Given the description of an element on the screen output the (x, y) to click on. 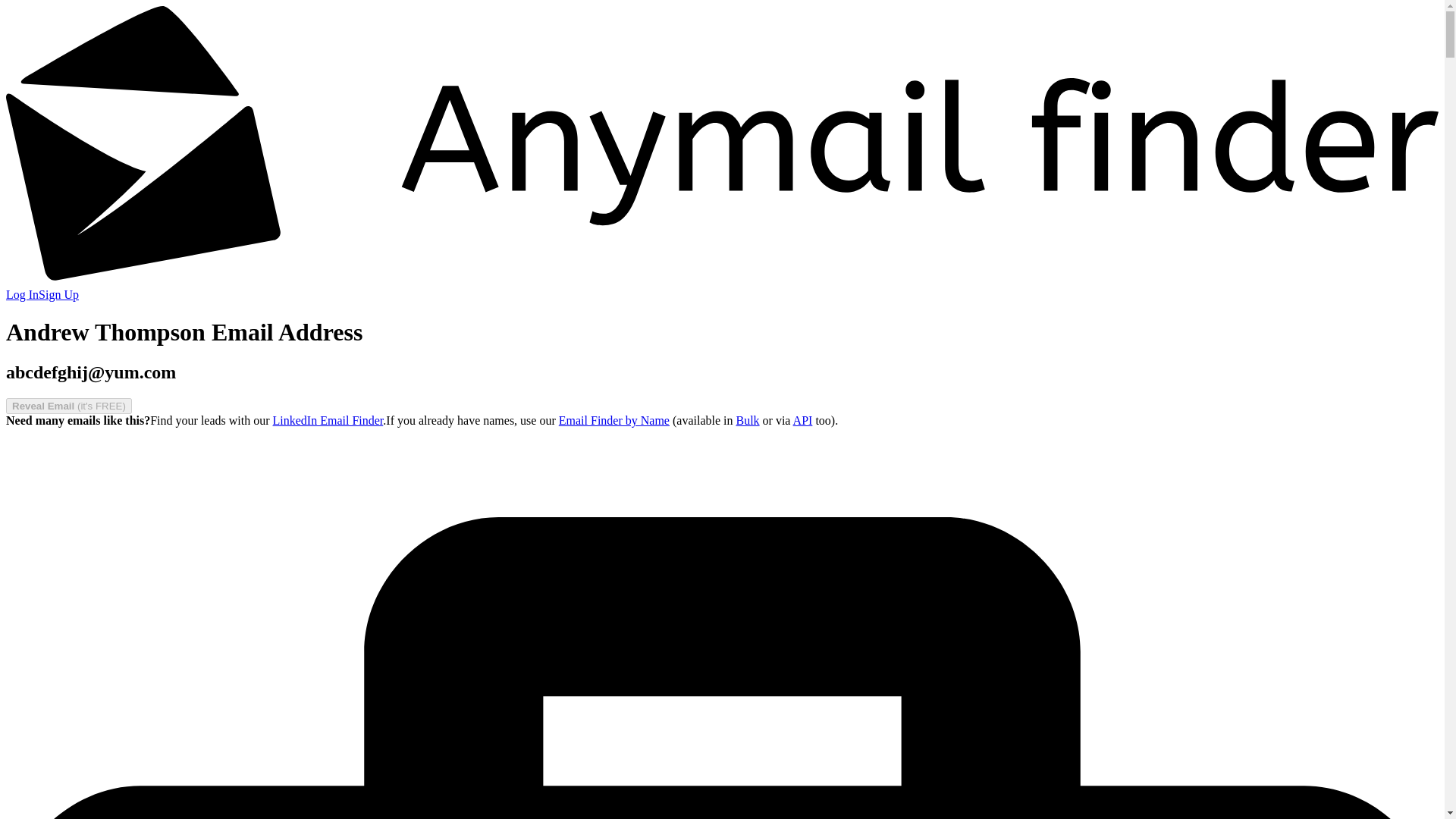
Log In (22, 294)
Email Finder by Name (614, 420)
Bulk (746, 420)
API (802, 420)
Sign Up (58, 294)
LinkedIn Email Finder (328, 420)
